Given the description of an element on the screen output the (x, y) to click on. 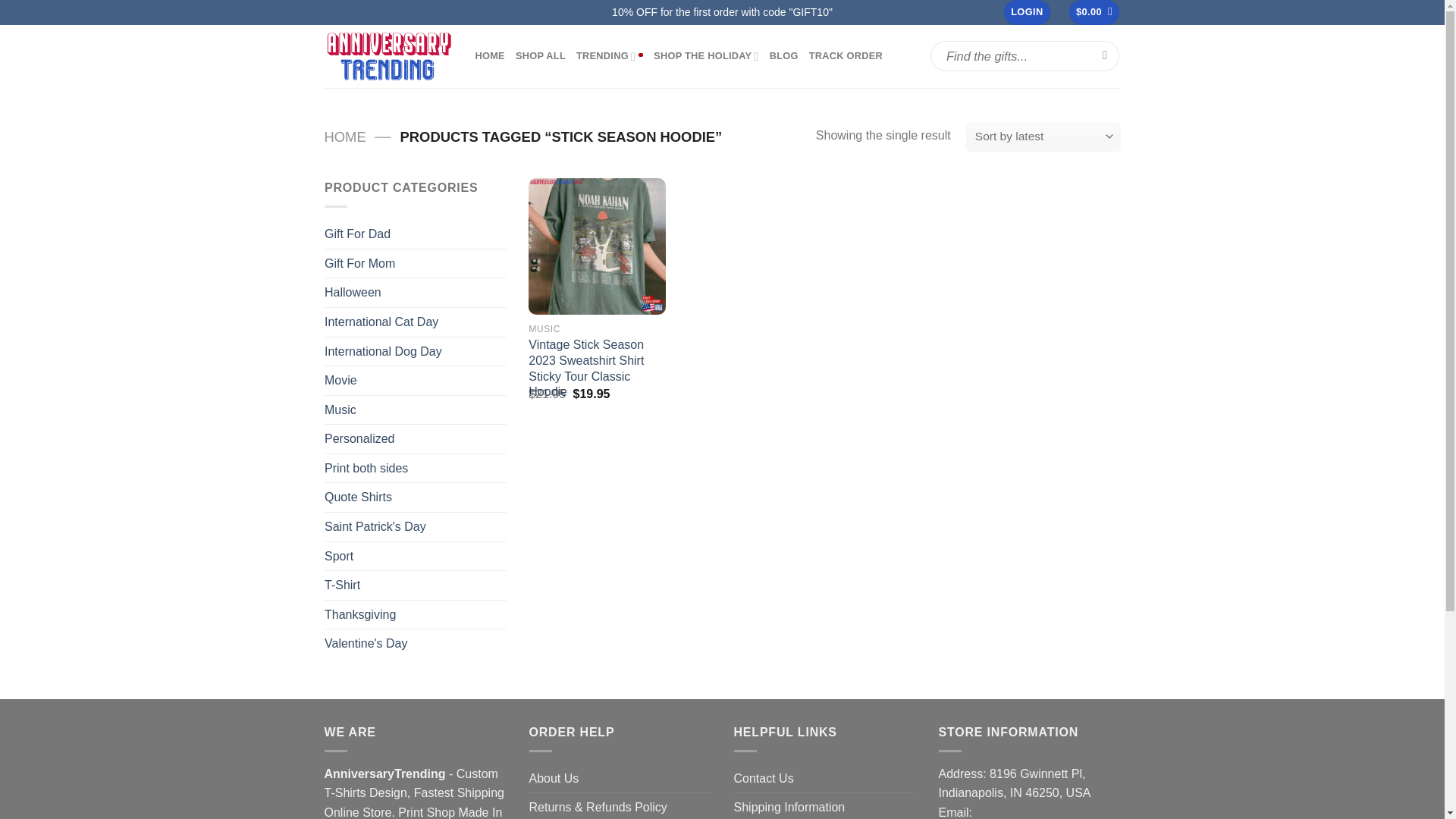
HOME (488, 55)
Sport (415, 555)
BLOG (783, 55)
Movie (415, 380)
HOME (345, 136)
Gift For Mom (415, 262)
T-Shirt (415, 584)
SHOP THE HOLIDAY (705, 56)
Cart (1093, 12)
Saint Patrick's Day (415, 526)
Print both sides (415, 468)
LOGIN (1026, 12)
Thanksgiving (415, 613)
AnniversaryTrending (388, 56)
SHOP ALL (540, 55)
